Given the description of an element on the screen output the (x, y) to click on. 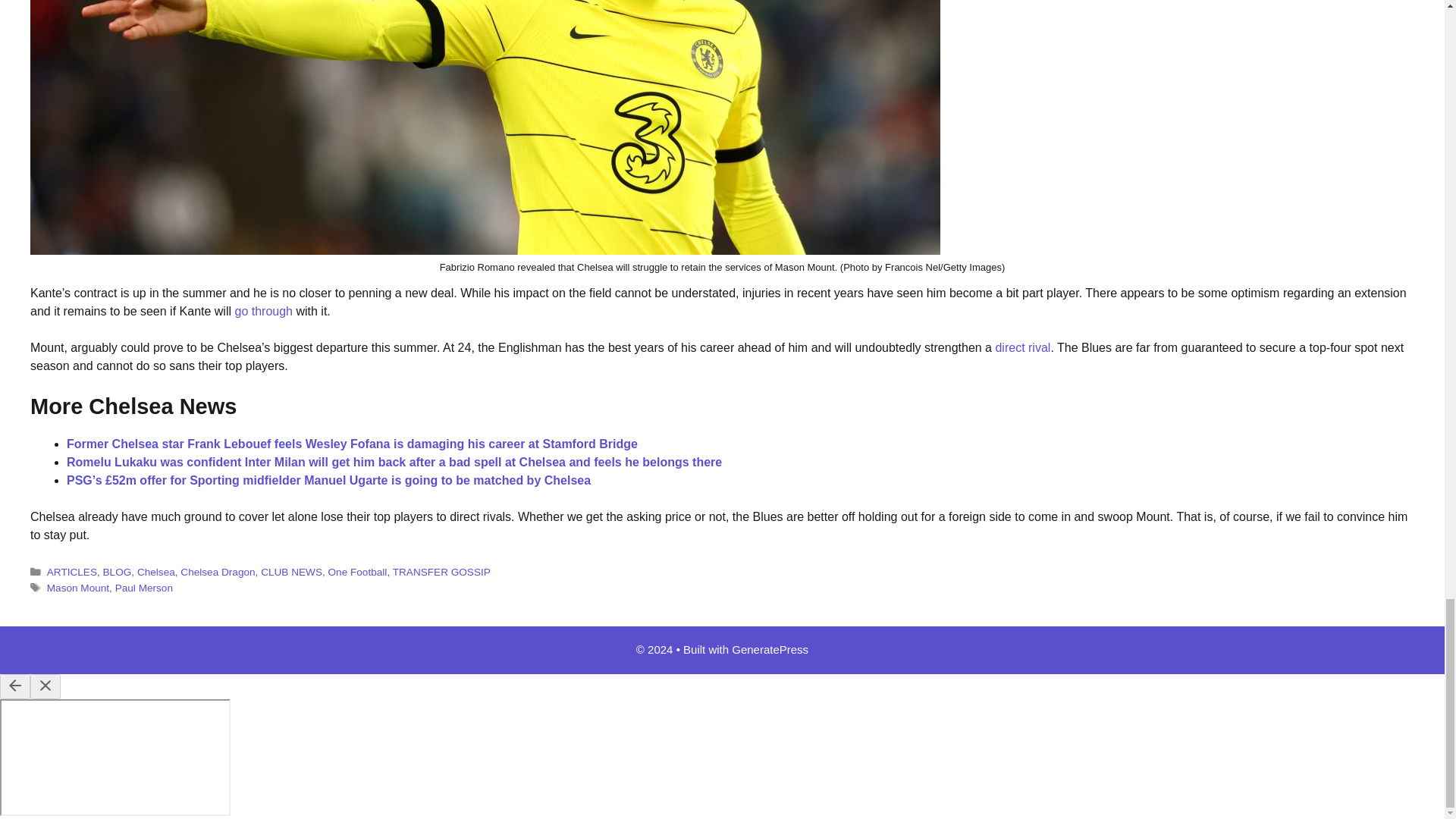
Paul Merson (144, 587)
TRANSFER GOSSIP (441, 572)
Mason Mount (77, 587)
One Football (358, 572)
BLOG (117, 572)
direct rival (1021, 347)
go through (263, 310)
ARTICLES (71, 572)
Chelsea Dragon (217, 572)
Chelsea (155, 572)
CLUB NEWS (290, 572)
